Given the description of an element on the screen output the (x, y) to click on. 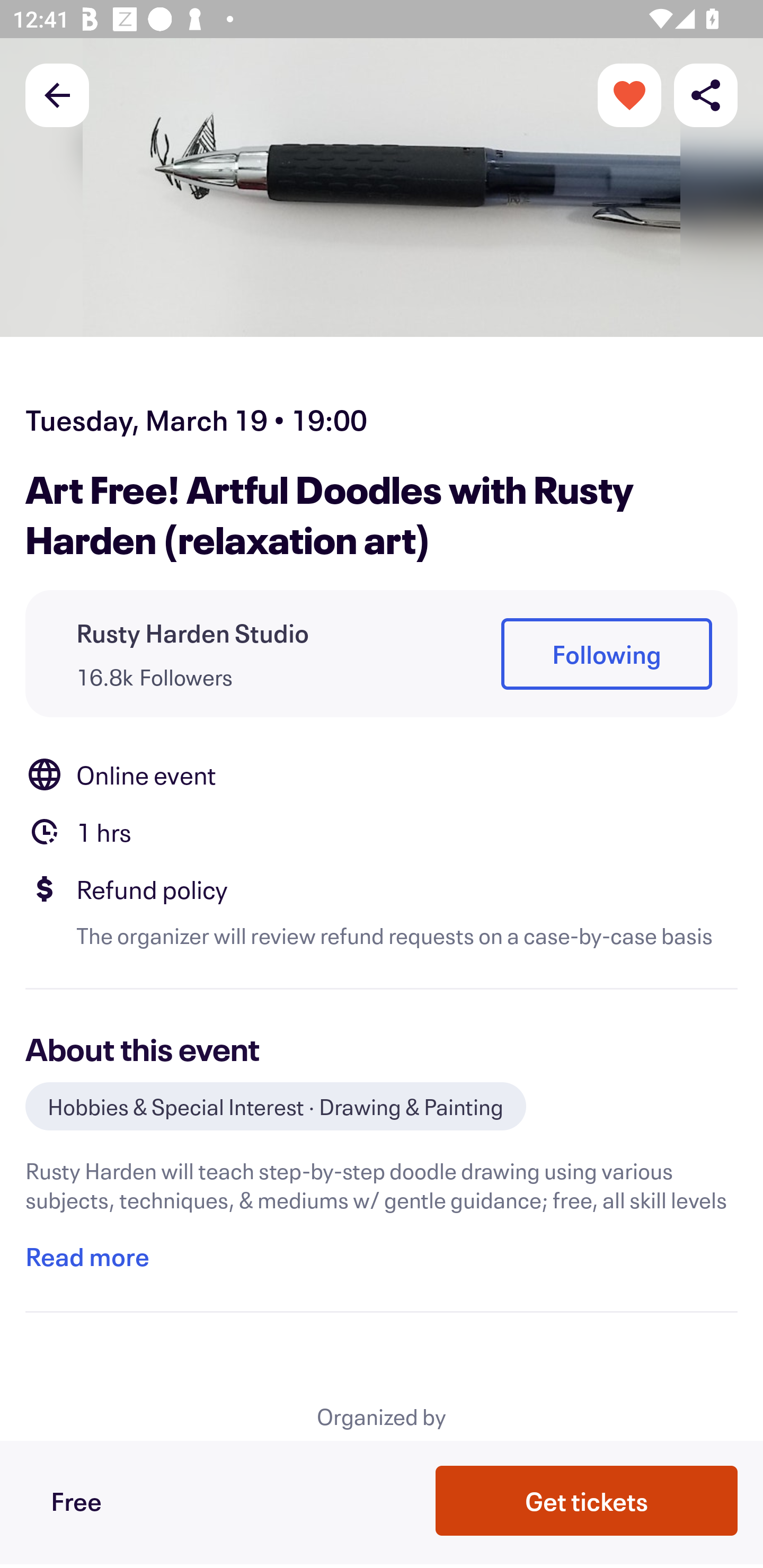
Back (57, 94)
More (629, 94)
Share (705, 94)
Rusty Harden Studio (192, 632)
Following (606, 654)
Location Online event (381, 774)
Read more (87, 1256)
Get tickets (586, 1500)
